Given the description of an element on the screen output the (x, y) to click on. 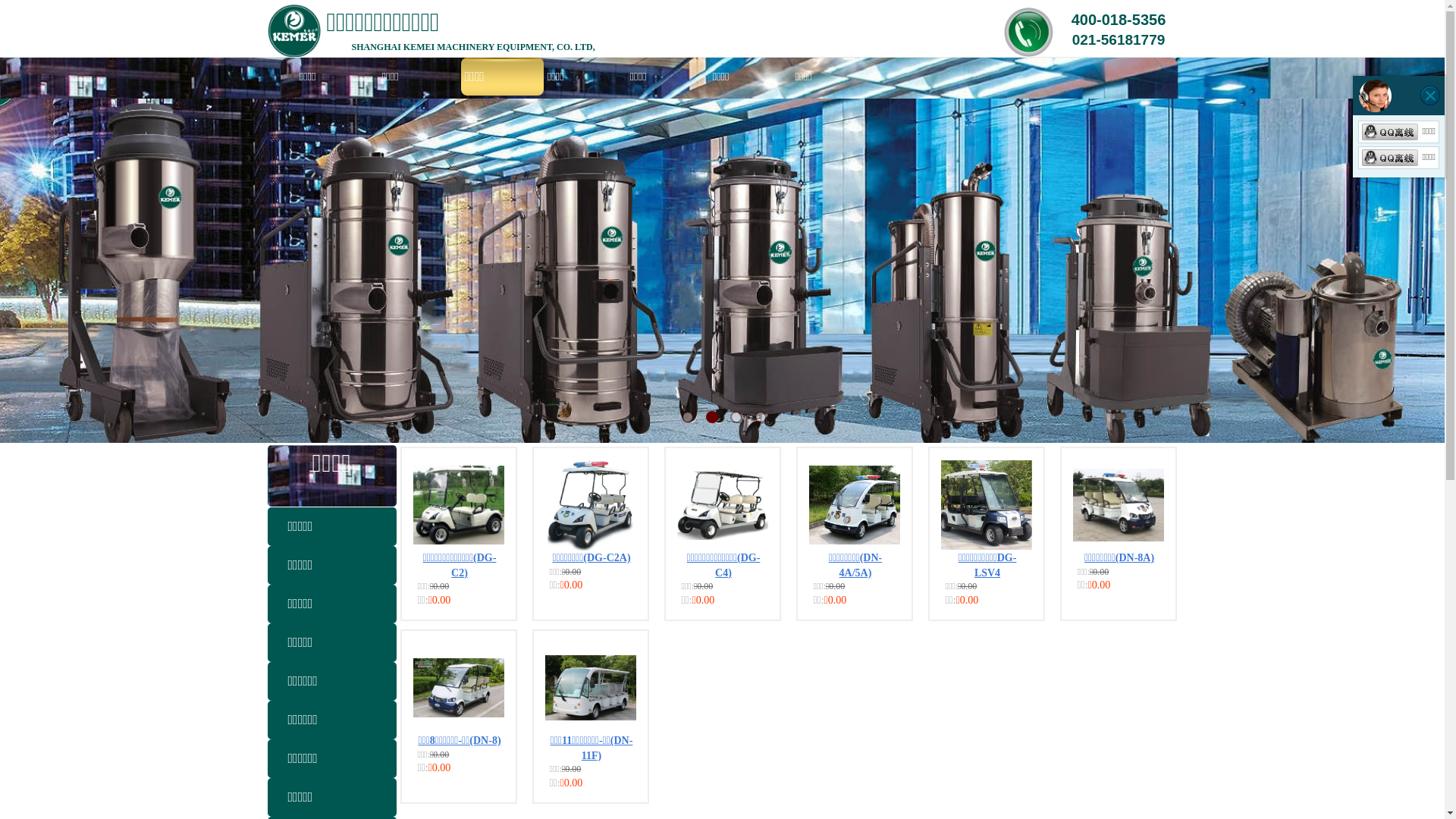
56 Element type: text (1156, 19)
400-018-53 Element type: text (1109, 19)
181779 Element type: text (1140, 39)
021-56 Element type: text (1094, 39)
